Given the description of an element on the screen output the (x, y) to click on. 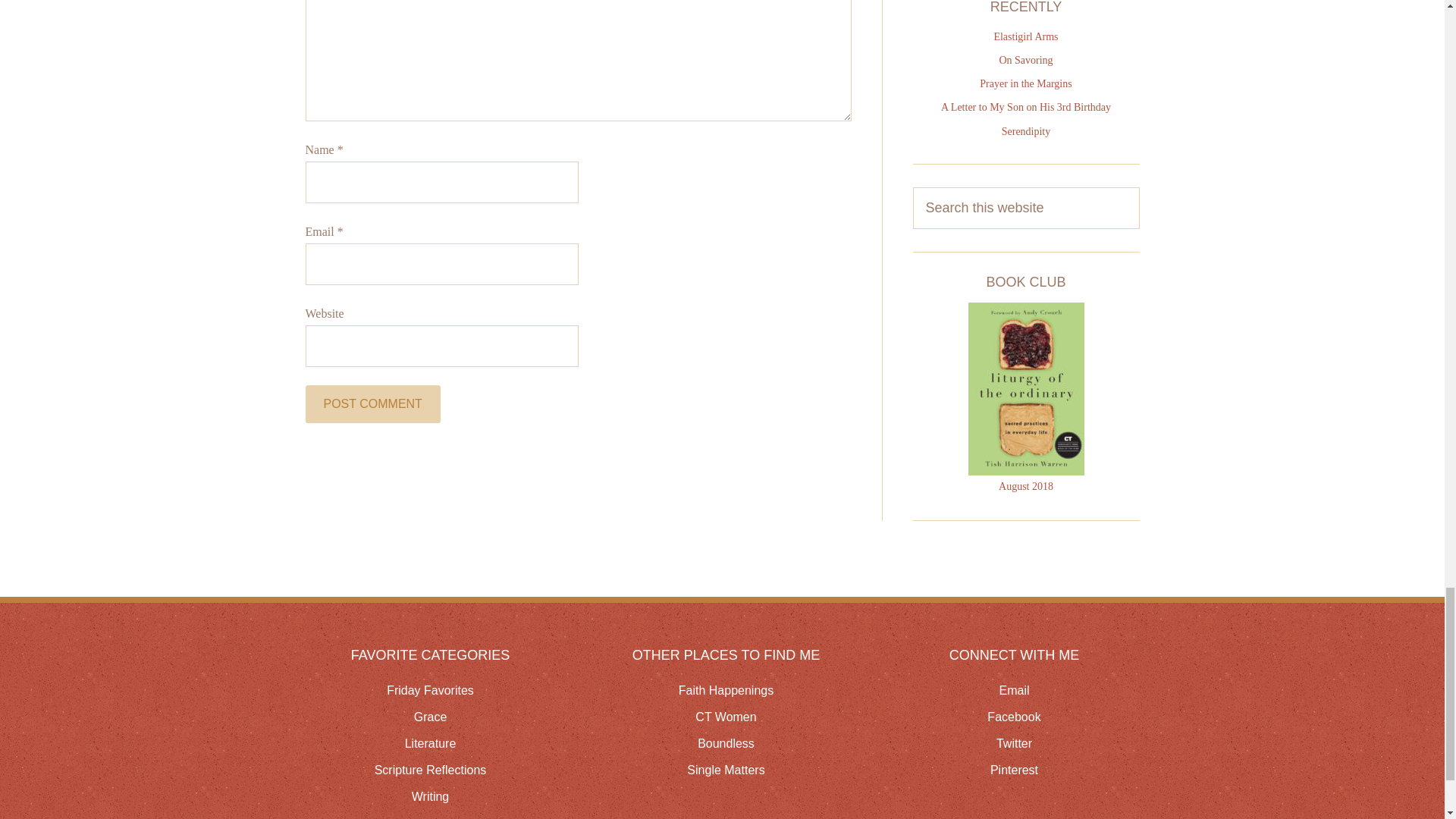
Post Comment (371, 403)
Post Comment (371, 403)
